Given the description of an element on the screen output the (x, y) to click on. 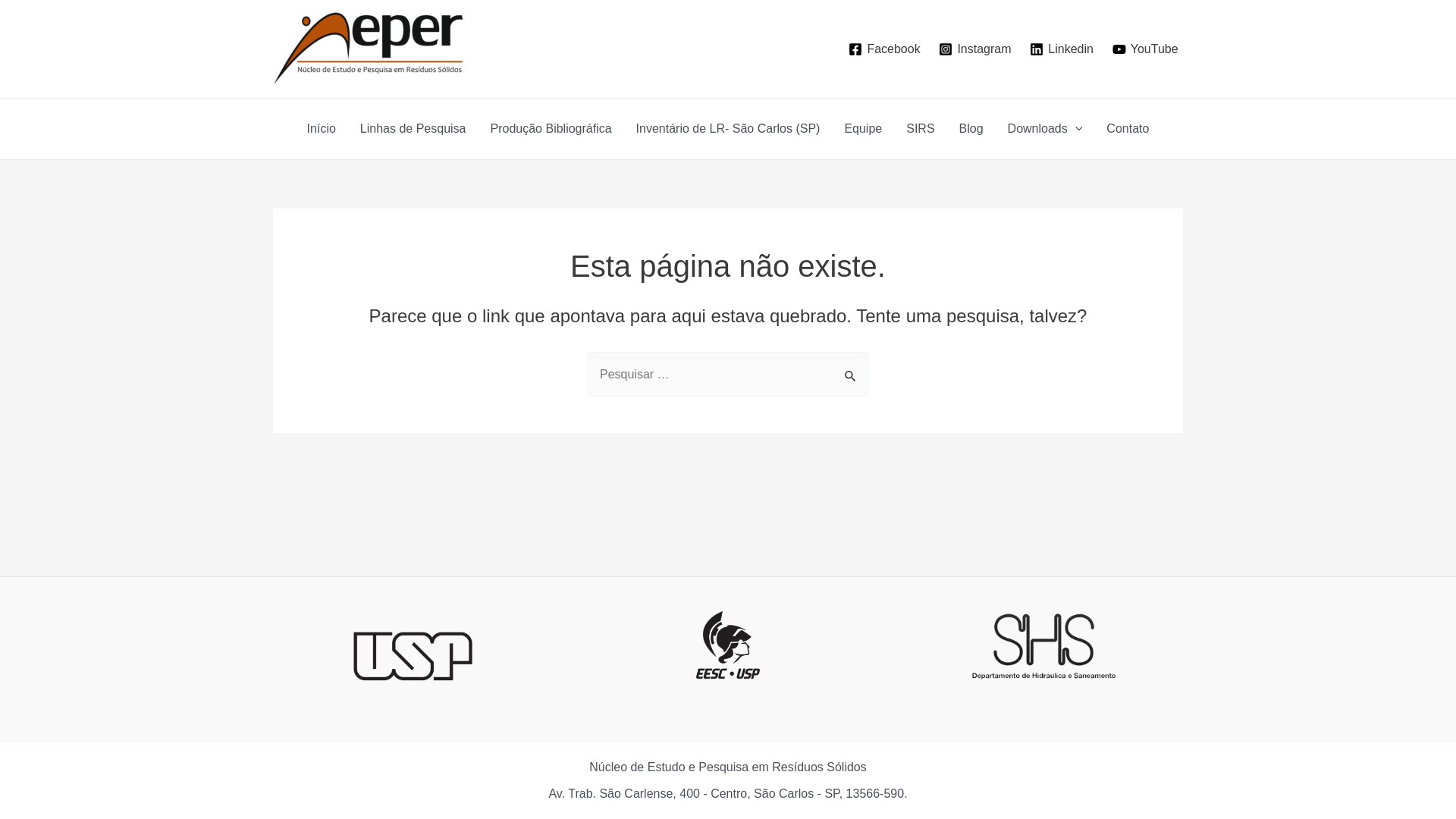
Equipe Element type: text (862, 128)
Contato Element type: text (1127, 128)
YouTube Element type: text (1145, 49)
Linhas de Pesquisa Element type: text (413, 128)
Downloads Element type: text (1045, 128)
Pesquisar Element type: text (851, 367)
Facebook Element type: text (884, 49)
SIRS Element type: text (920, 128)
Linkedin Element type: text (1061, 49)
Blog Element type: text (971, 128)
Instagram Element type: text (975, 49)
